Given the description of an element on the screen output the (x, y) to click on. 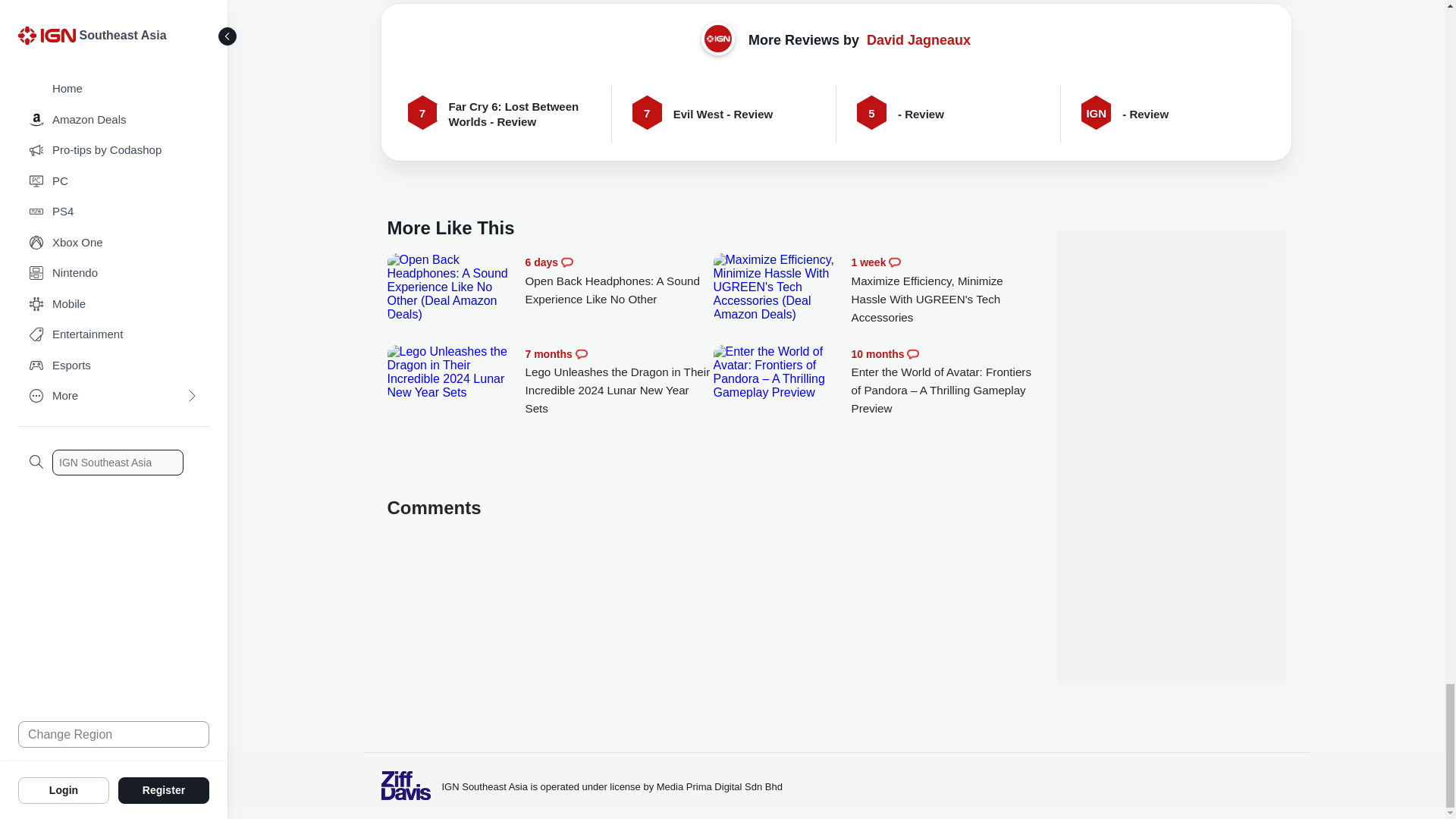
Open Back Headphones: A Sound Experience Like No Other (451, 287)
Open Back Headphones: A Sound Experience Like No Other (618, 280)
Comments (566, 262)
